Given the description of an element on the screen output the (x, y) to click on. 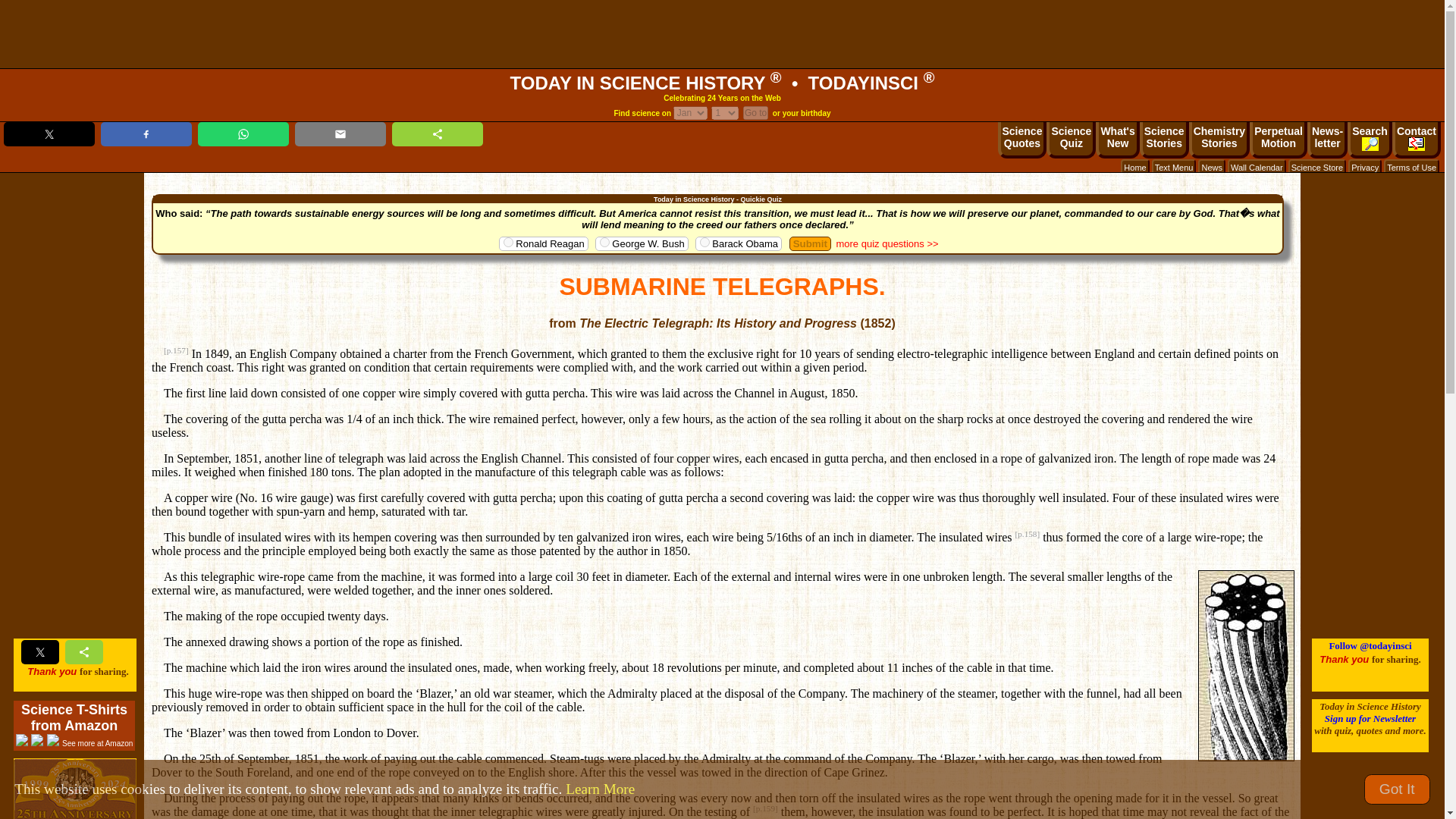
Index to Science Quotations (1021, 140)
Submit (810, 243)
Home (1134, 167)
Index to Science Quiz (1071, 140)
Printable Wall Calendar (1256, 167)
Chemistry short stories (1219, 140)
Perpetual motion machines described (1117, 140)
Contact (1278, 140)
Select Month first (1219, 140)
Our latest articles and pages (1416, 140)
Terms of Use (724, 112)
Search (1117, 140)
Select Month first, and then Day (1411, 167)
